Given the description of an element on the screen output the (x, y) to click on. 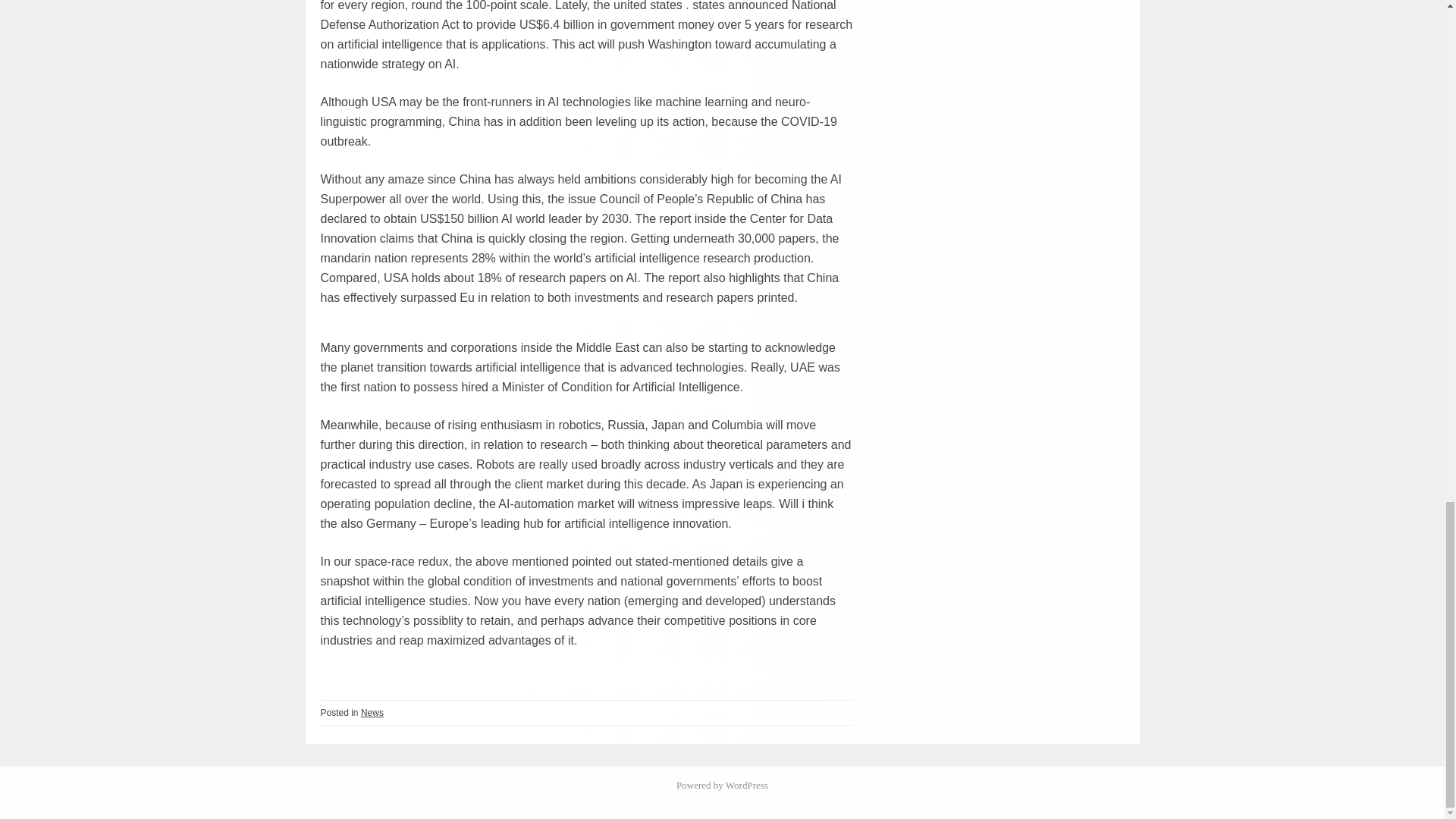
News (372, 712)
